Given the description of an element on the screen output the (x, y) to click on. 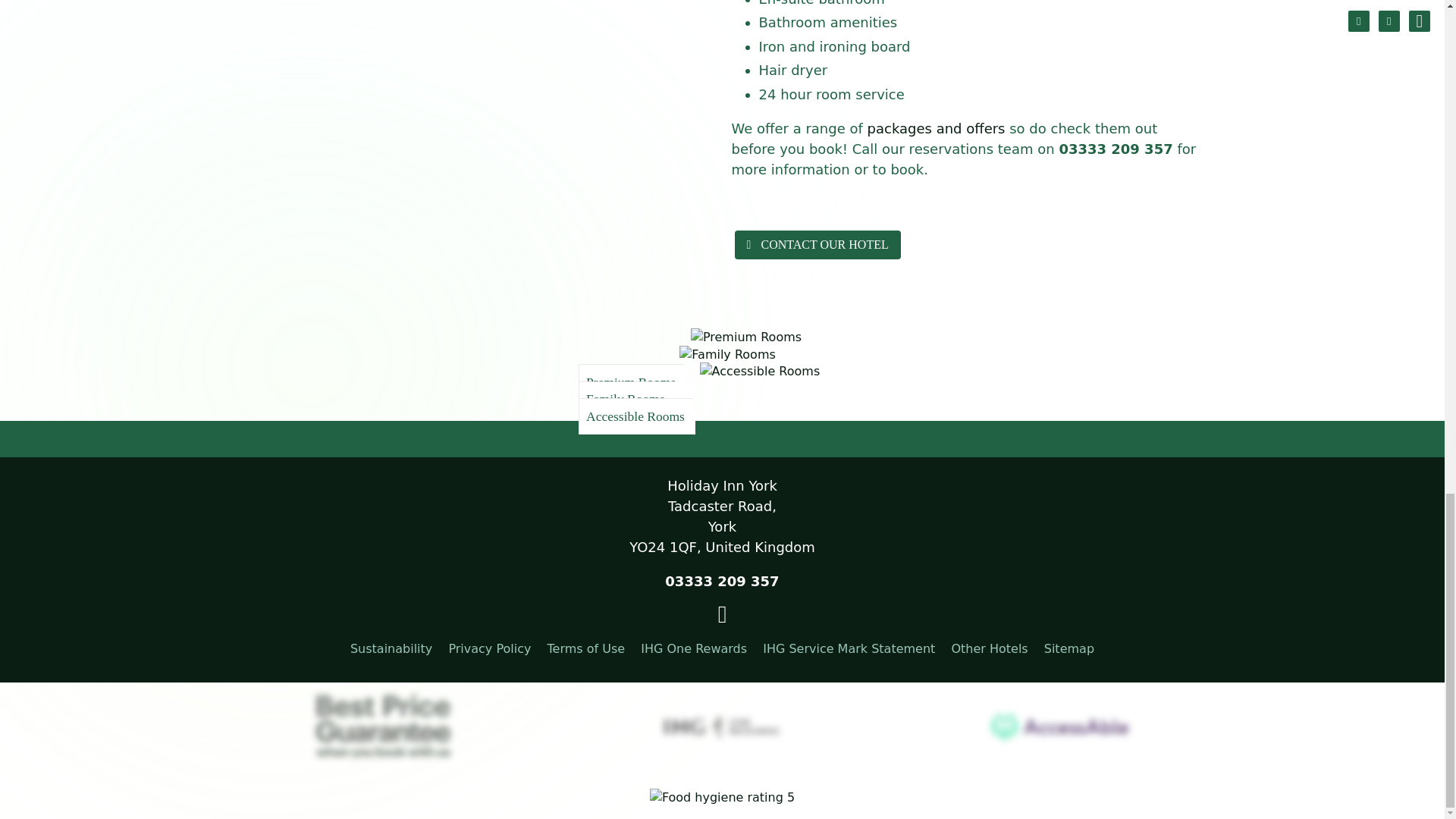
Contact our hotel (816, 244)
Accessible Rooms (721, 364)
Other Hotels (988, 648)
packages and offers (936, 128)
IHG Service Mark Statement (848, 648)
IHG One Rewards (693, 648)
CONTACT OUR HOTEL (816, 244)
See our bedroom packages (936, 128)
Sitemap (1068, 648)
Premium Rooms (721, 331)
